Given the description of an element on the screen output the (x, y) to click on. 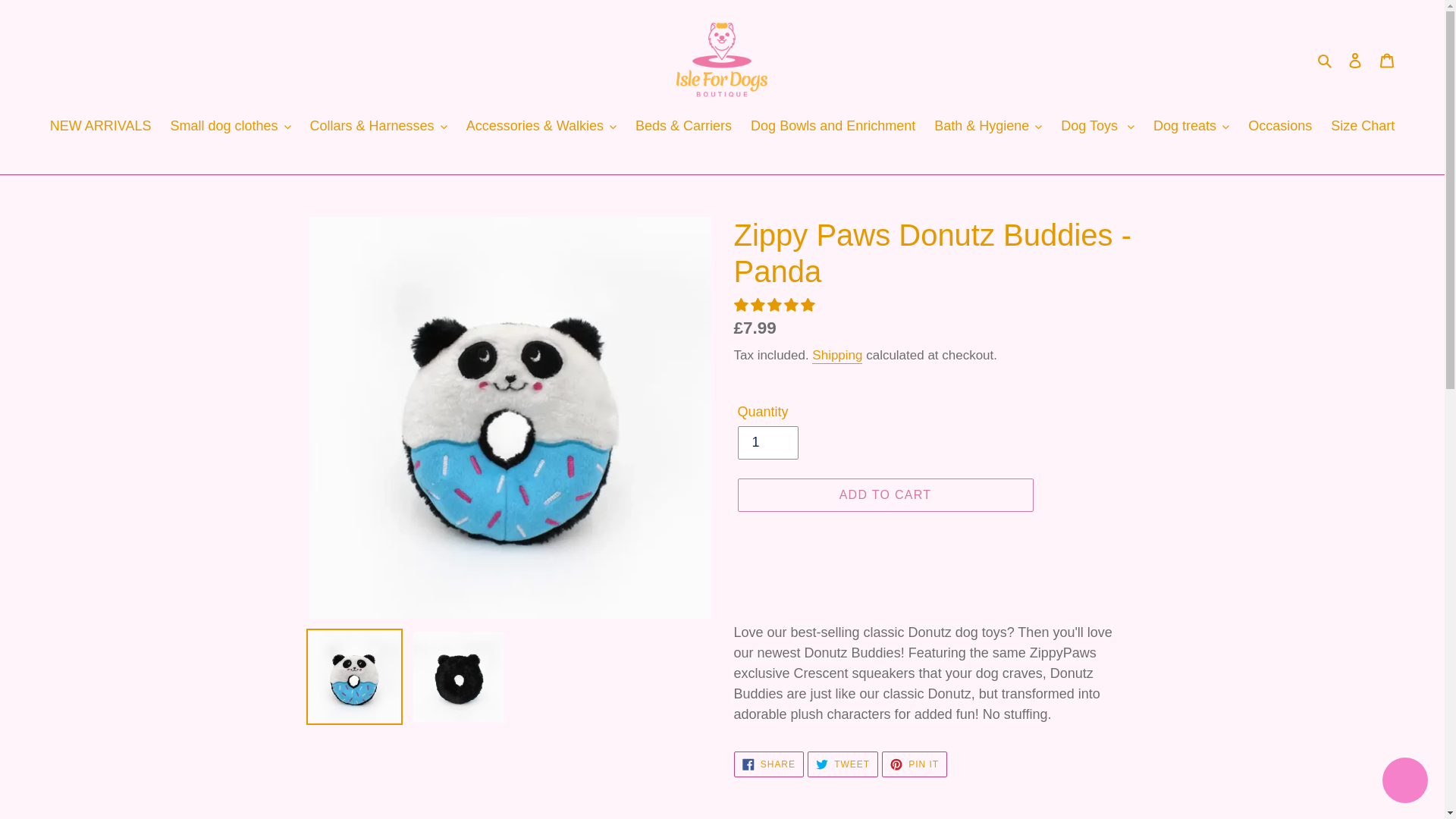
Cart (1387, 59)
Log in (1355, 59)
Search (1326, 59)
1 (766, 442)
Shopify online store chat (1404, 781)
